Given the description of an element on the screen output the (x, y) to click on. 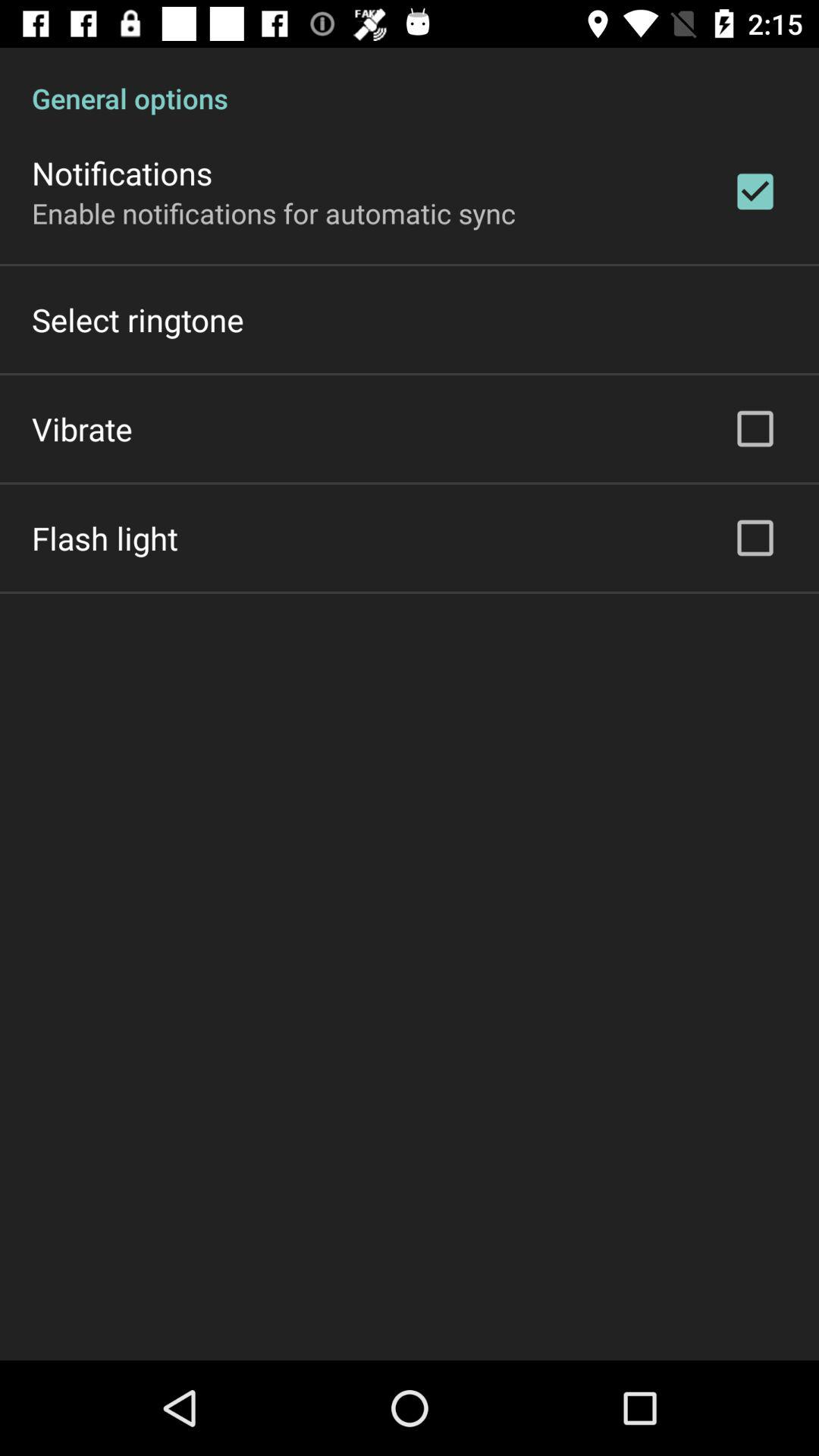
choose the item below the enable notifications for icon (137, 319)
